Given the description of an element on the screen output the (x, y) to click on. 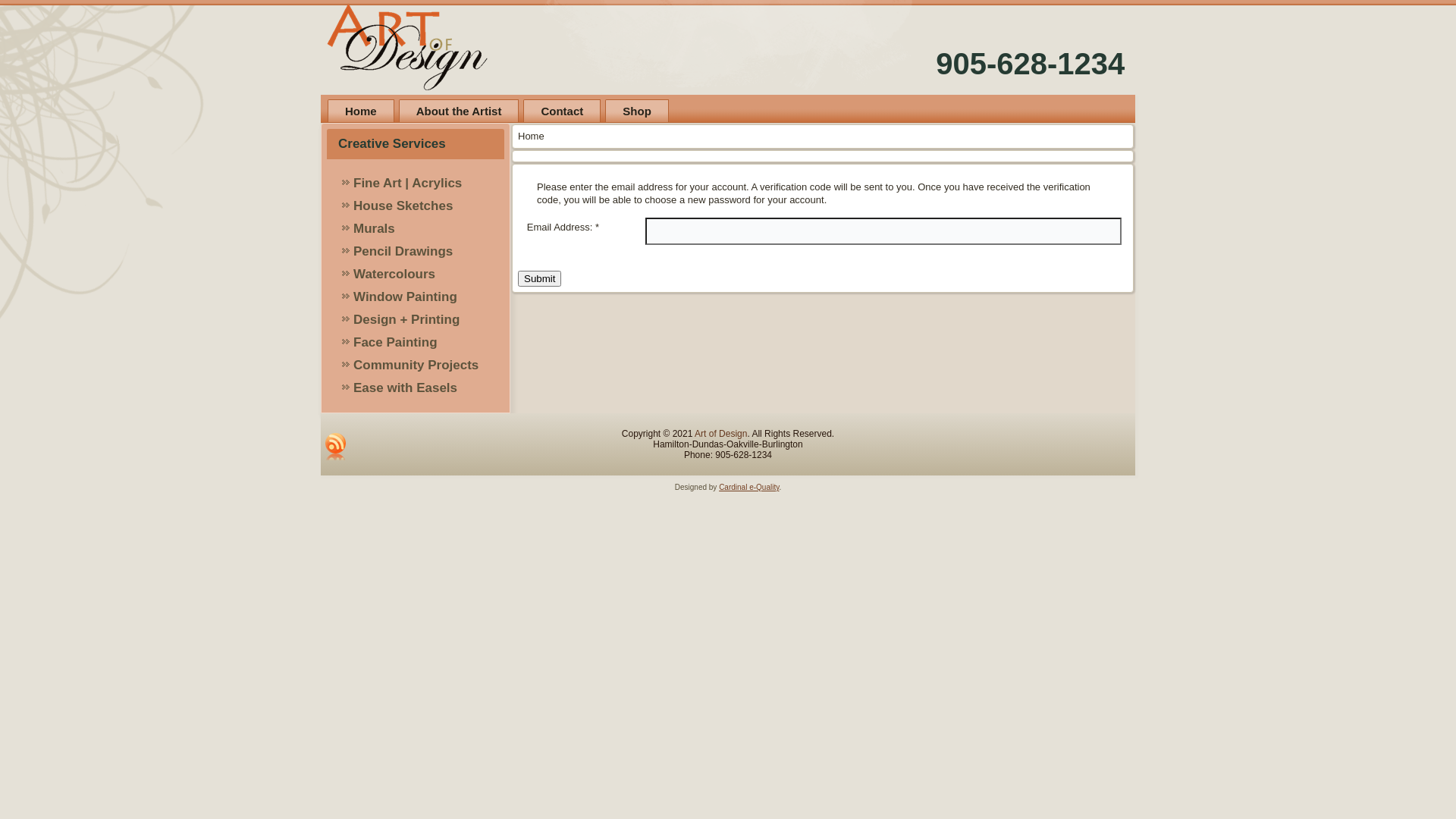
Shop Element type: text (636, 110)
Design + Printing Element type: text (415, 319)
Community Projects Element type: text (415, 365)
Cardinal e-Quality Element type: text (748, 487)
Art of Design Element type: text (720, 433)
Window Painting Element type: text (415, 296)
Pencil Drawings Element type: text (415, 251)
Fine Art | Acrylics Element type: text (415, 183)
RSS Element type: hover (335, 446)
Watercolours Element type: text (415, 274)
Submit Element type: text (539, 278)
Home Element type: text (360, 110)
Murals Element type: text (415, 228)
Ease with Easels Element type: text (415, 387)
905-628-1234 Element type: text (1029, 63)
Face Painting Element type: text (415, 342)
Contact Element type: text (561, 110)
About the Artist Element type: text (458, 110)
House Sketches Element type: text (415, 205)
